Given the description of an element on the screen output the (x, y) to click on. 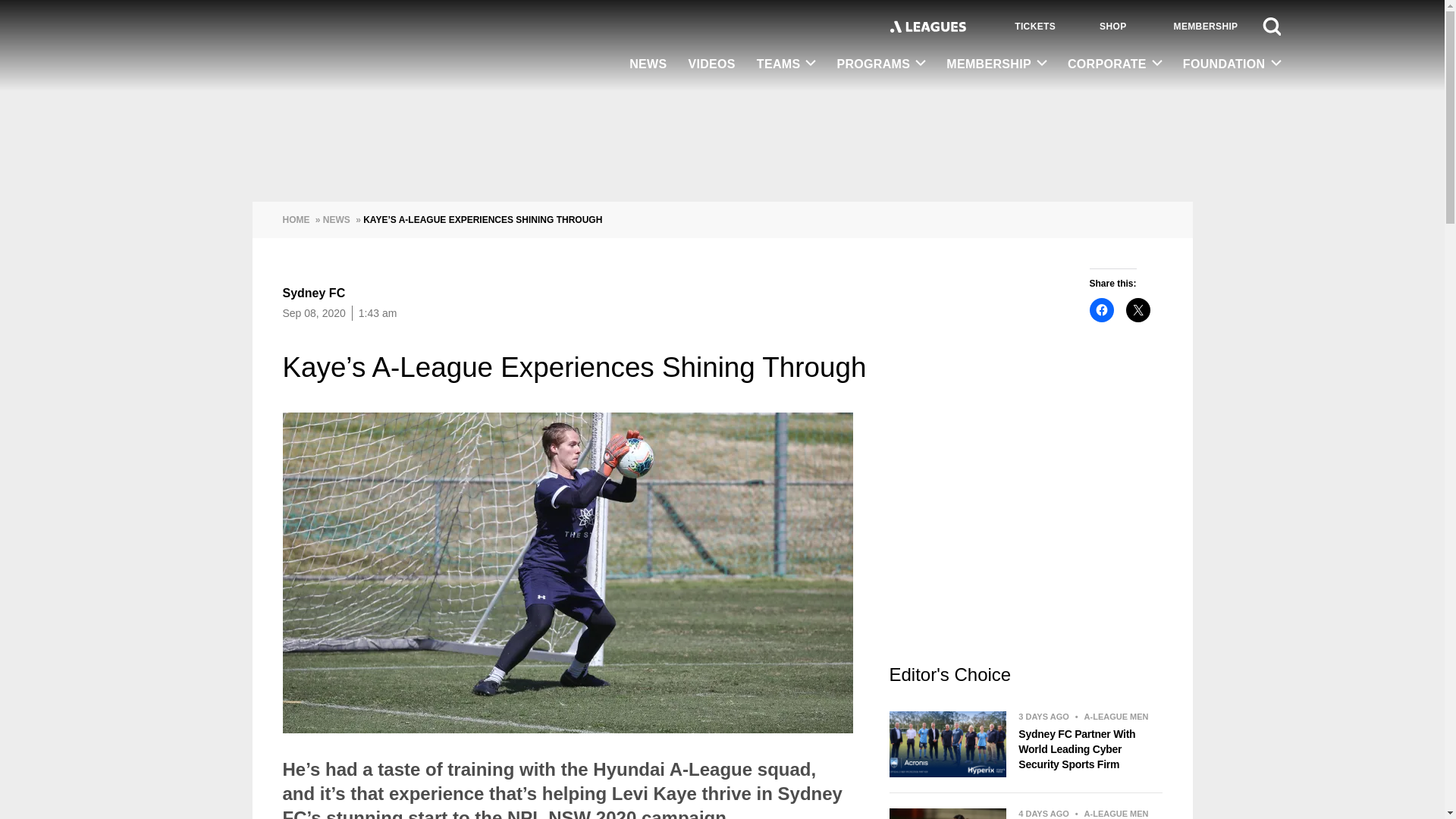
PROGRAMS (880, 64)
TEAMS (786, 64)
3rd party ad content (721, 146)
VIDEOS (711, 65)
NEWS (647, 65)
3rd party ad content (1024, 537)
Click to share on Facebook (1101, 310)
Click to share on X (1137, 310)
